Given the description of an element on the screen output the (x, y) to click on. 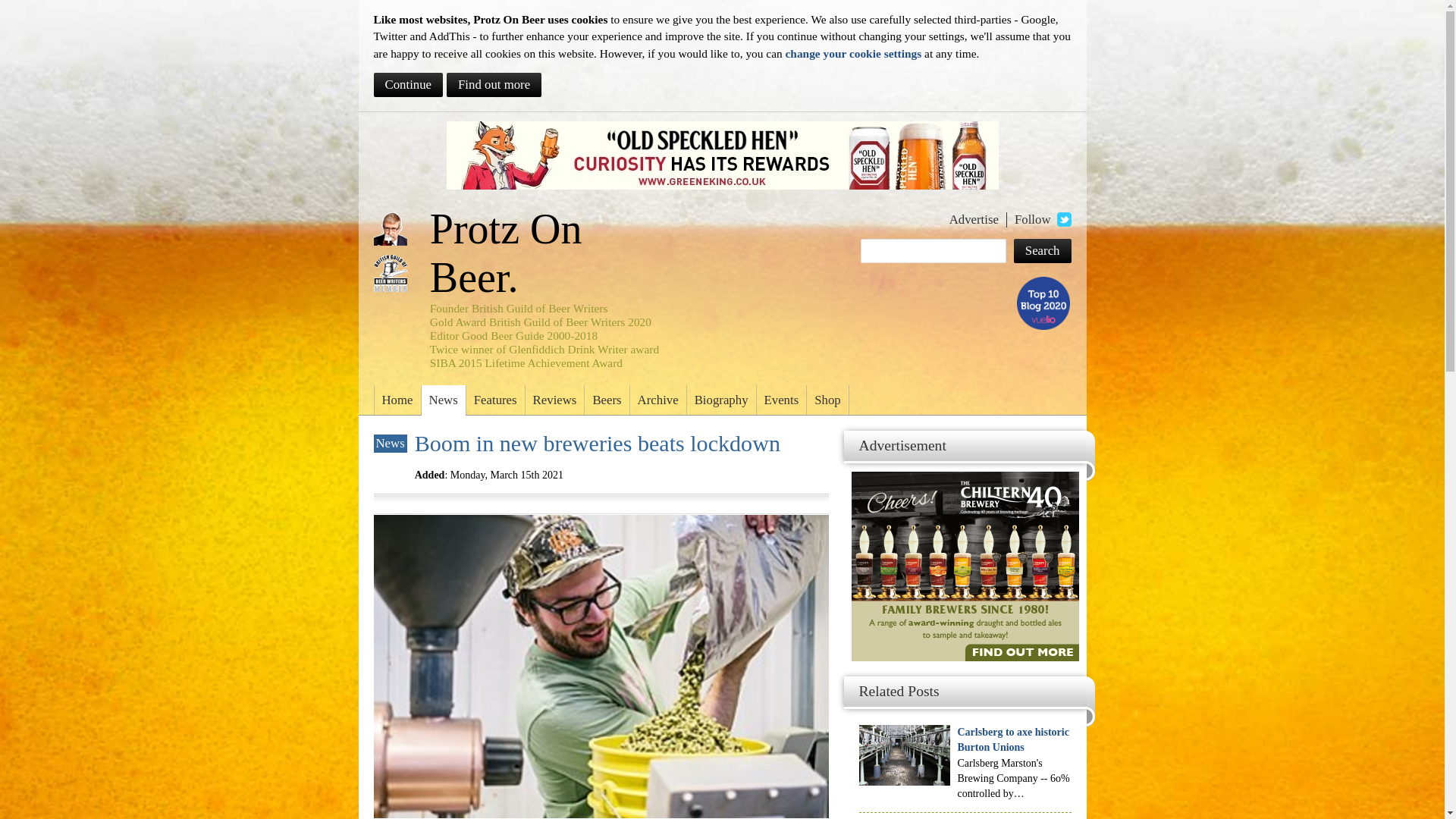
News (443, 399)
Reviews (555, 399)
Search (1042, 250)
Advertise (978, 219)
Features (494, 399)
Biography (721, 399)
Change your cookie settings (853, 52)
Beers (606, 399)
Archive (657, 399)
Continue (407, 84)
Advertise (978, 219)
Follow Roger on Twitter (1062, 219)
Find out more (493, 84)
Events (781, 399)
change your cookie settings (853, 52)
